Given the description of an element on the screen output the (x, y) to click on. 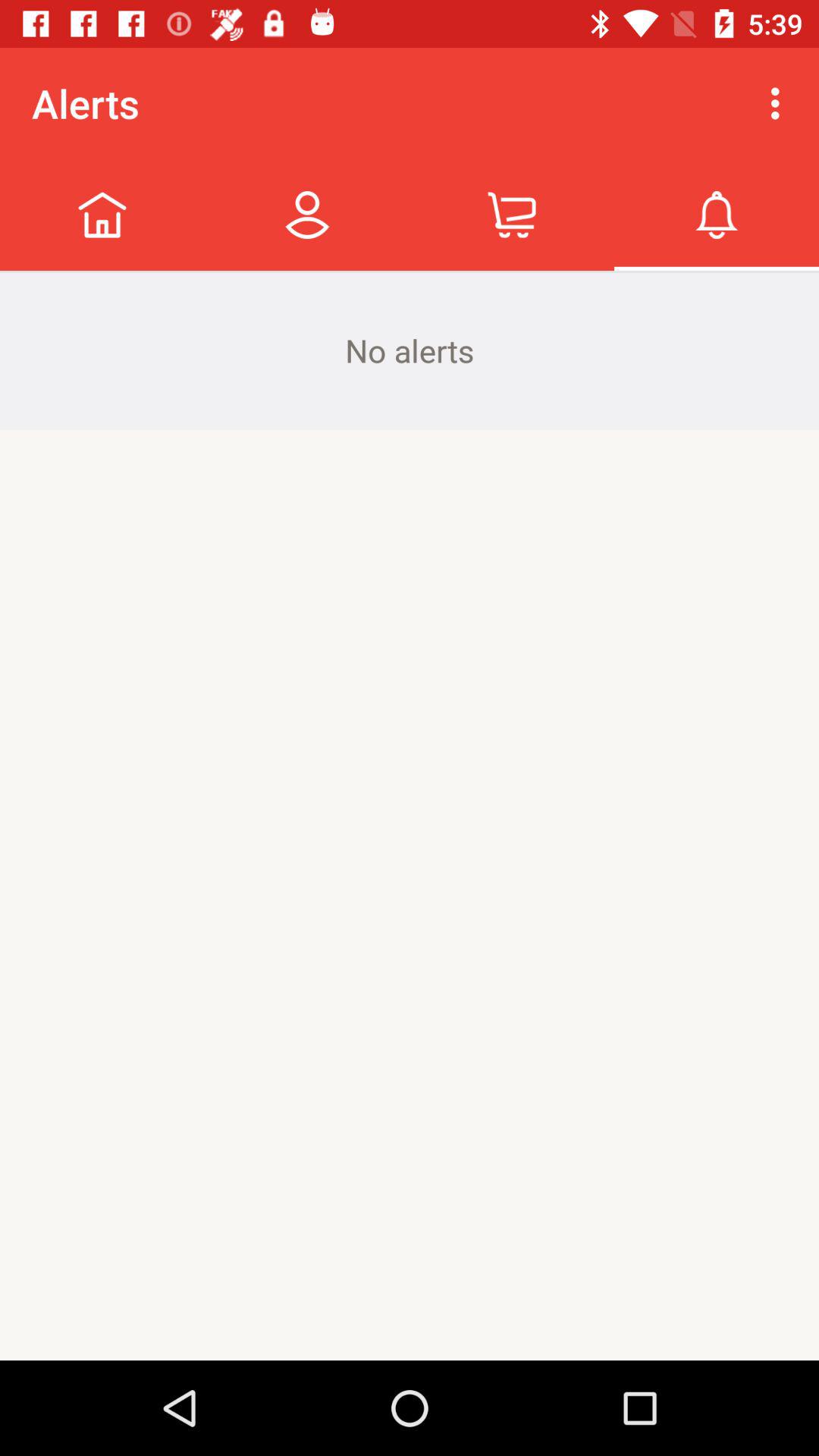
turn on icon next to alerts (779, 103)
